Given the description of an element on the screen output the (x, y) to click on. 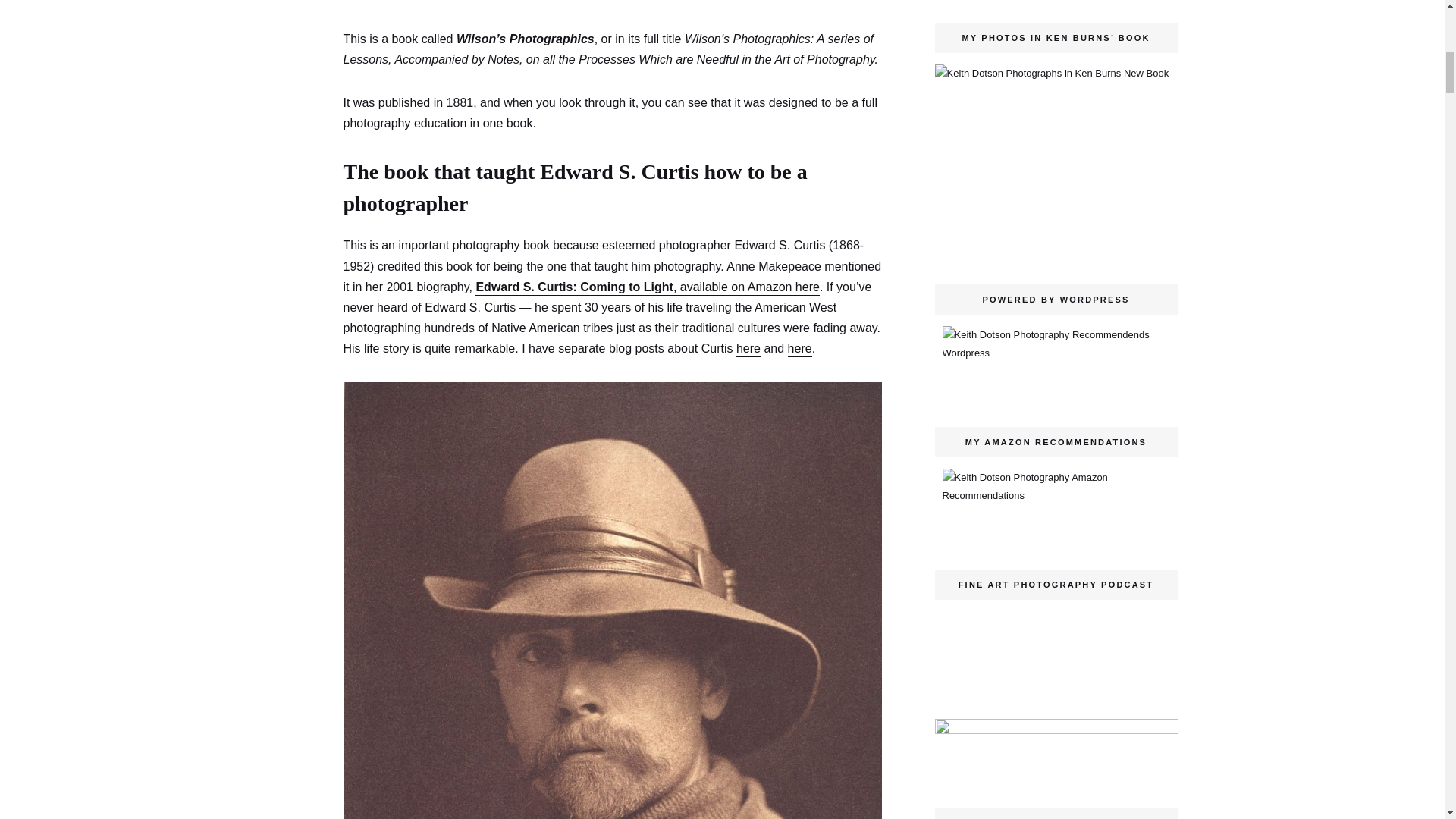
Edward S. Curtis: Coming to Light, available on Amazon here (647, 287)
here (799, 349)
here (748, 349)
Keith Dotson Photographs in Ken Burns New Book (1055, 158)
